Given the description of an element on the screen output the (x, y) to click on. 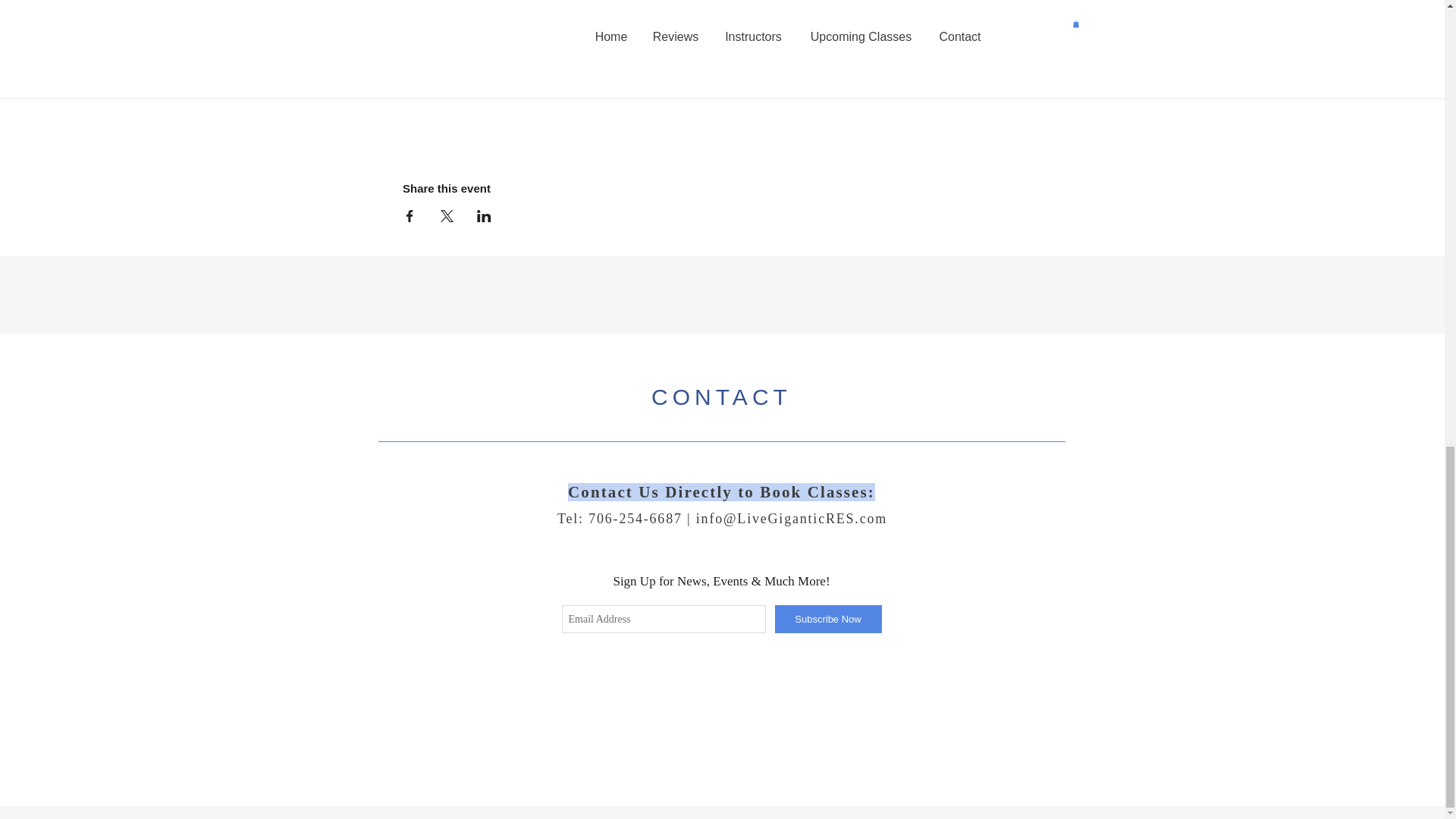
Subscribe Now (828, 619)
